Given the description of an element on the screen output the (x, y) to click on. 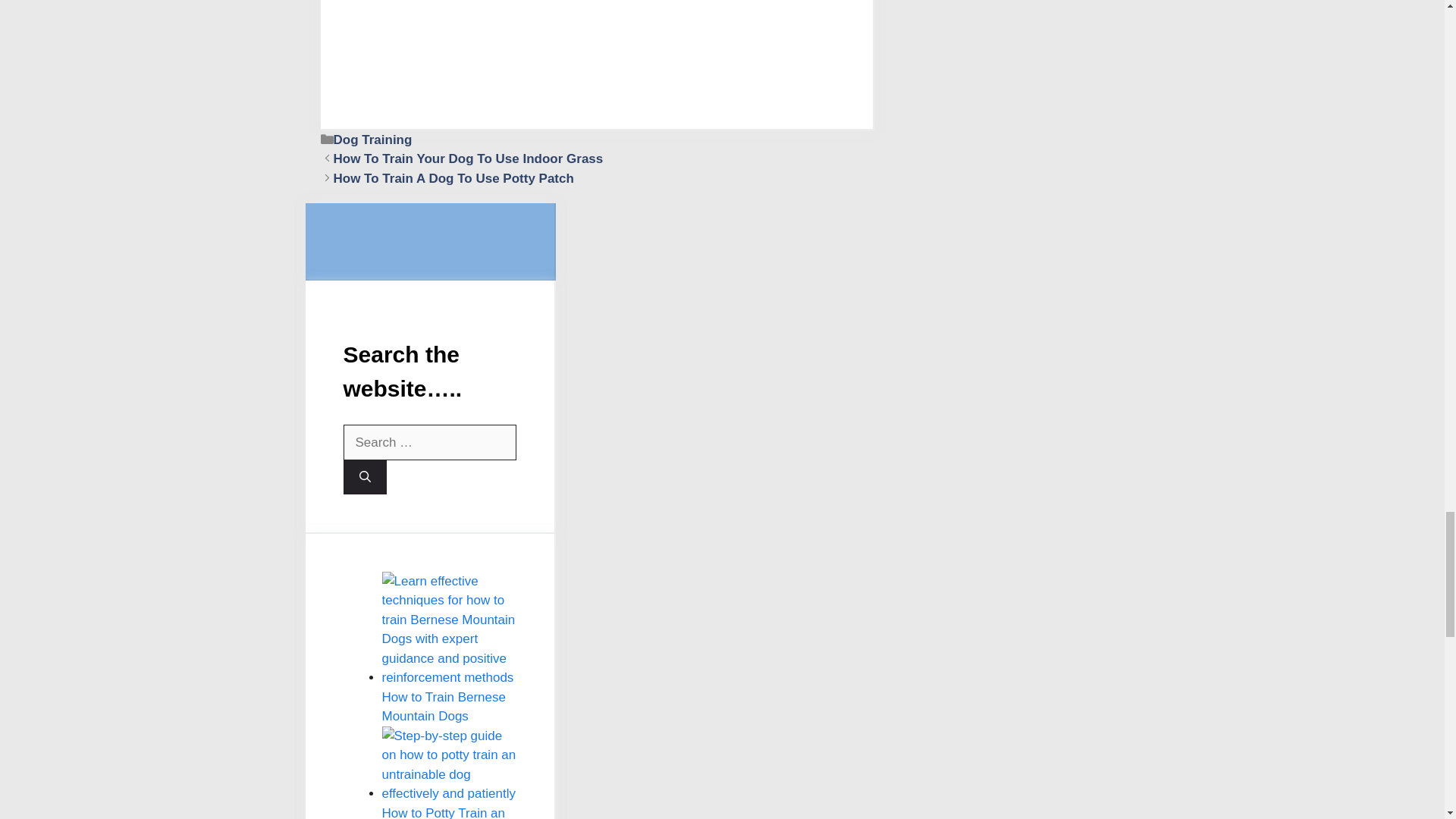
How to Train Bernese Mountain Dogs 4 (448, 629)
Search for: (428, 443)
How to Potty Train an Untrainable Dog 5 (448, 764)
